Given the description of an element on the screen output the (x, y) to click on. 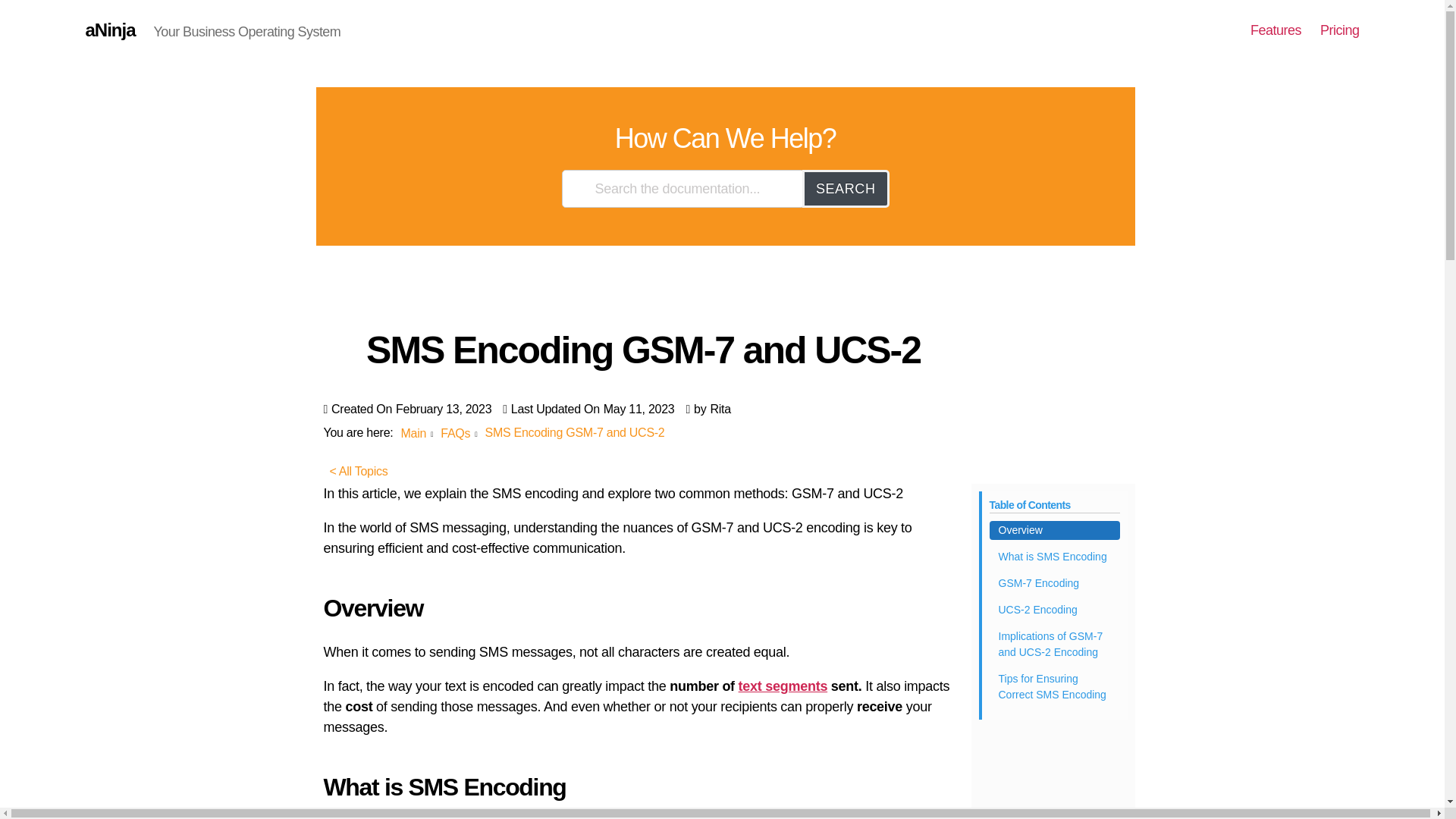
Overview (1053, 529)
Implications of GSM-7 and UCS-2 Encoding (1053, 644)
Tips for Ensuring Correct SMS Encoding (1053, 686)
Pricing (1339, 30)
Features (1275, 30)
SEARCH (845, 188)
GSM-7 Encoding (1053, 583)
UCS-2 Encoding (1053, 609)
text segments (783, 685)
What is SMS Encoding (1053, 556)
